Given the description of an element on the screen output the (x, y) to click on. 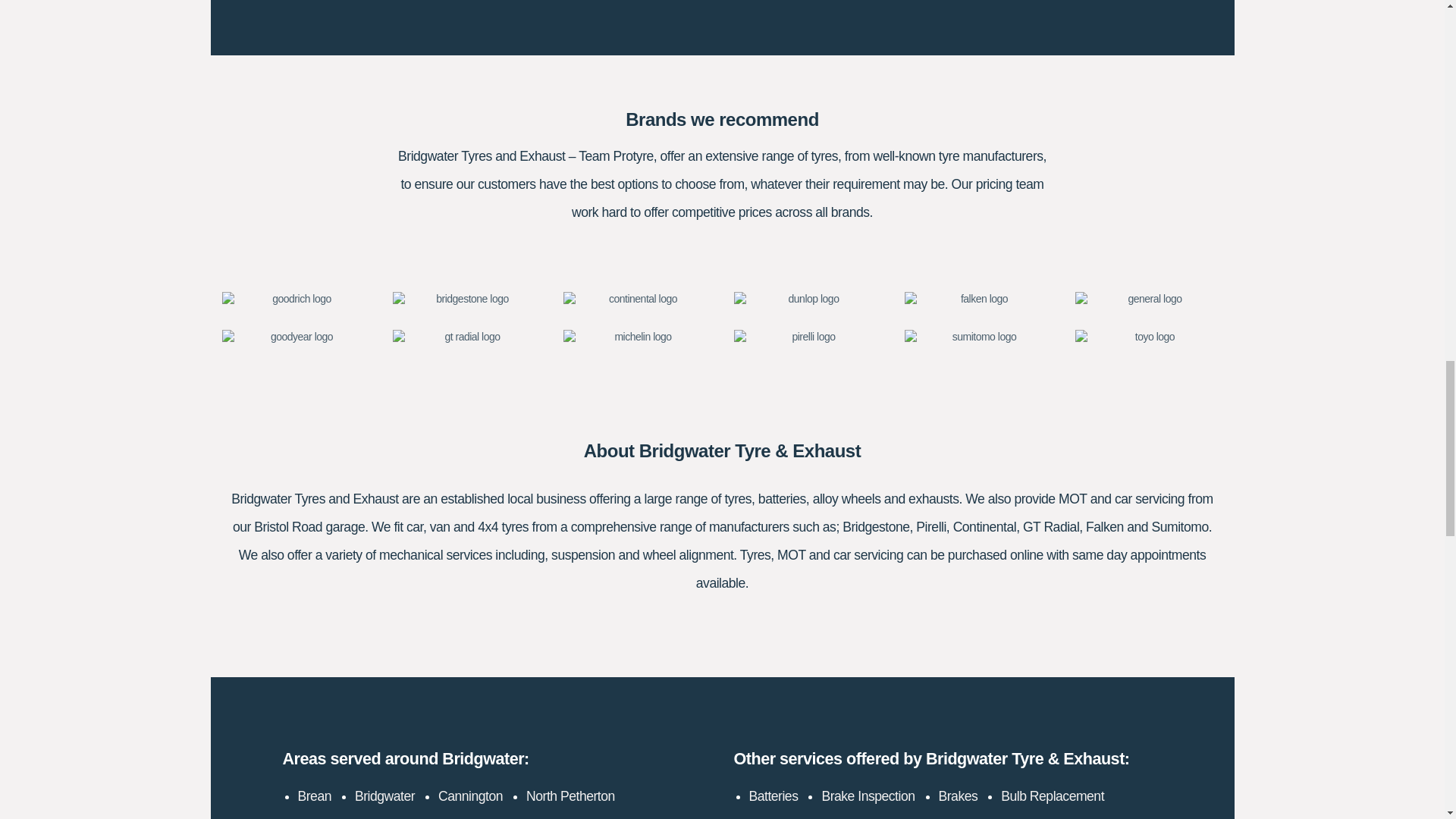
Bridgwater (384, 795)
Brean (313, 795)
North Petherton (569, 795)
Cannington (470, 795)
